Given the description of an element on the screen output the (x, y) to click on. 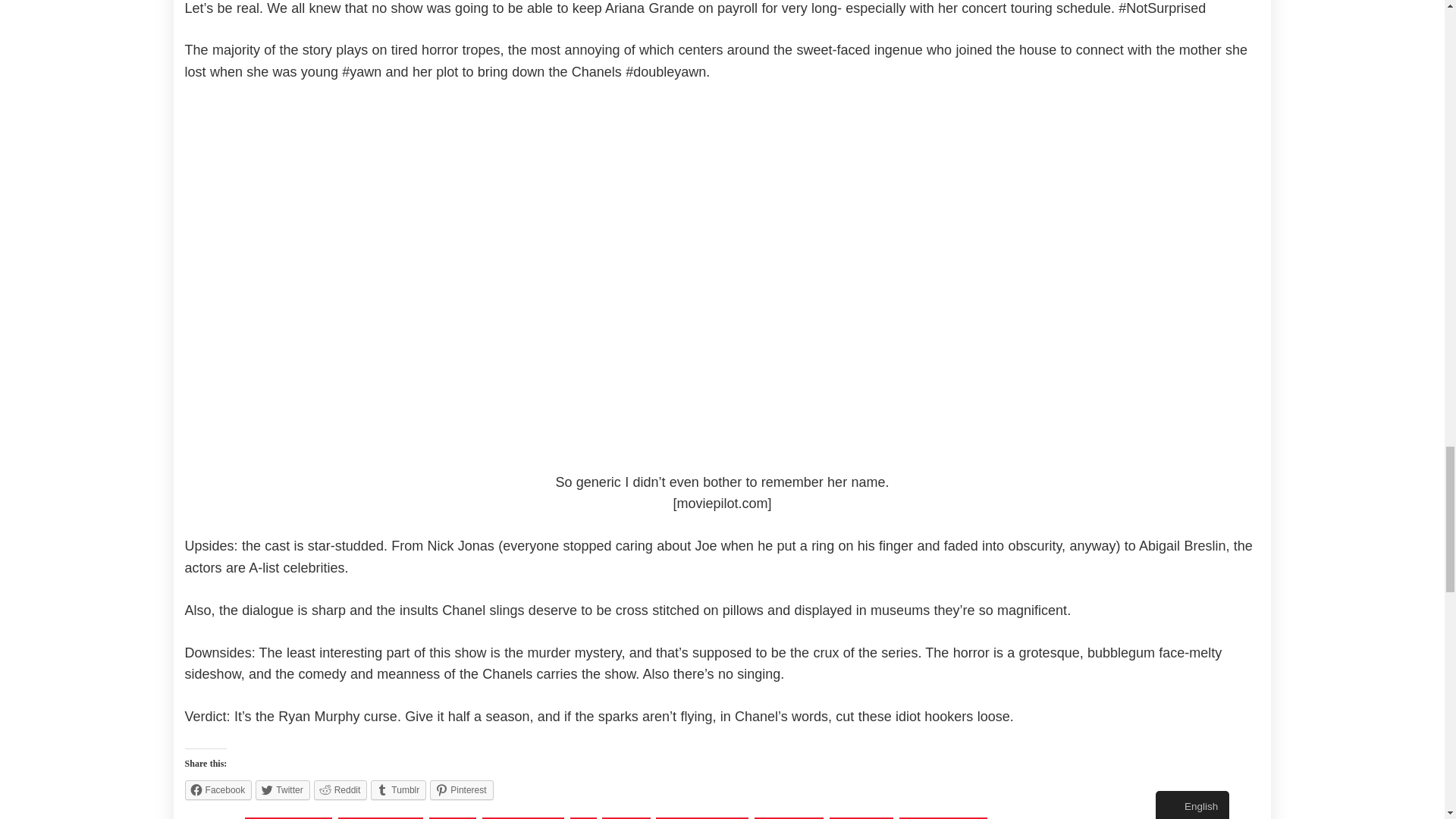
ABIGAIL BRESLIN (287, 818)
Tumblr (398, 790)
Click to share on Facebook (217, 790)
Twitter (282, 790)
Click to share on Twitter (282, 790)
Click to share on Reddit (341, 790)
SCREAM QUEENS (943, 818)
EMMA ROBERTS (522, 818)
Click to share on Pinterest (461, 790)
Pinterest (461, 790)
